Given the description of an element on the screen output the (x, y) to click on. 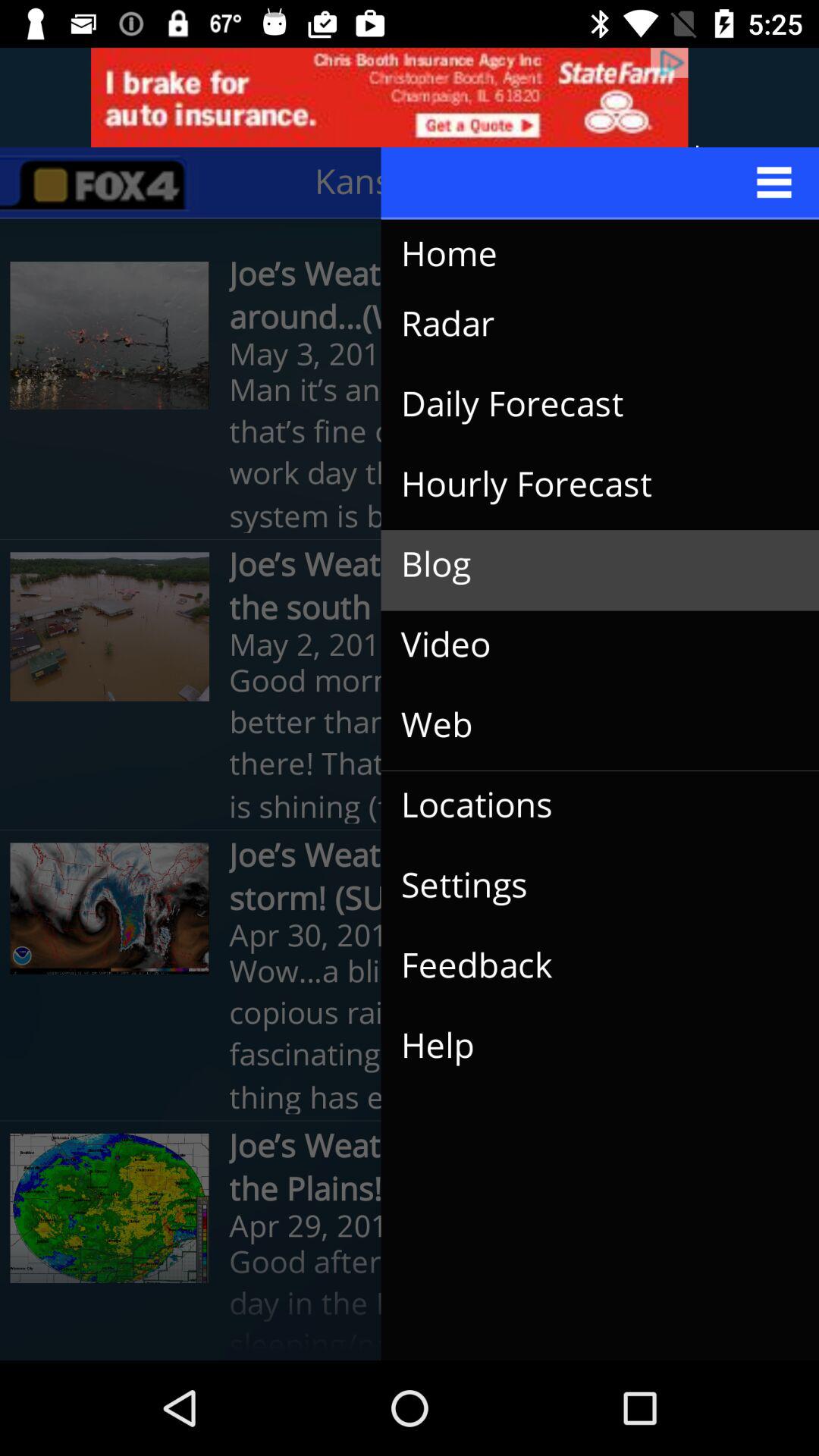
jump until feedback icon (587, 965)
